Given the description of an element on the screen output the (x, y) to click on. 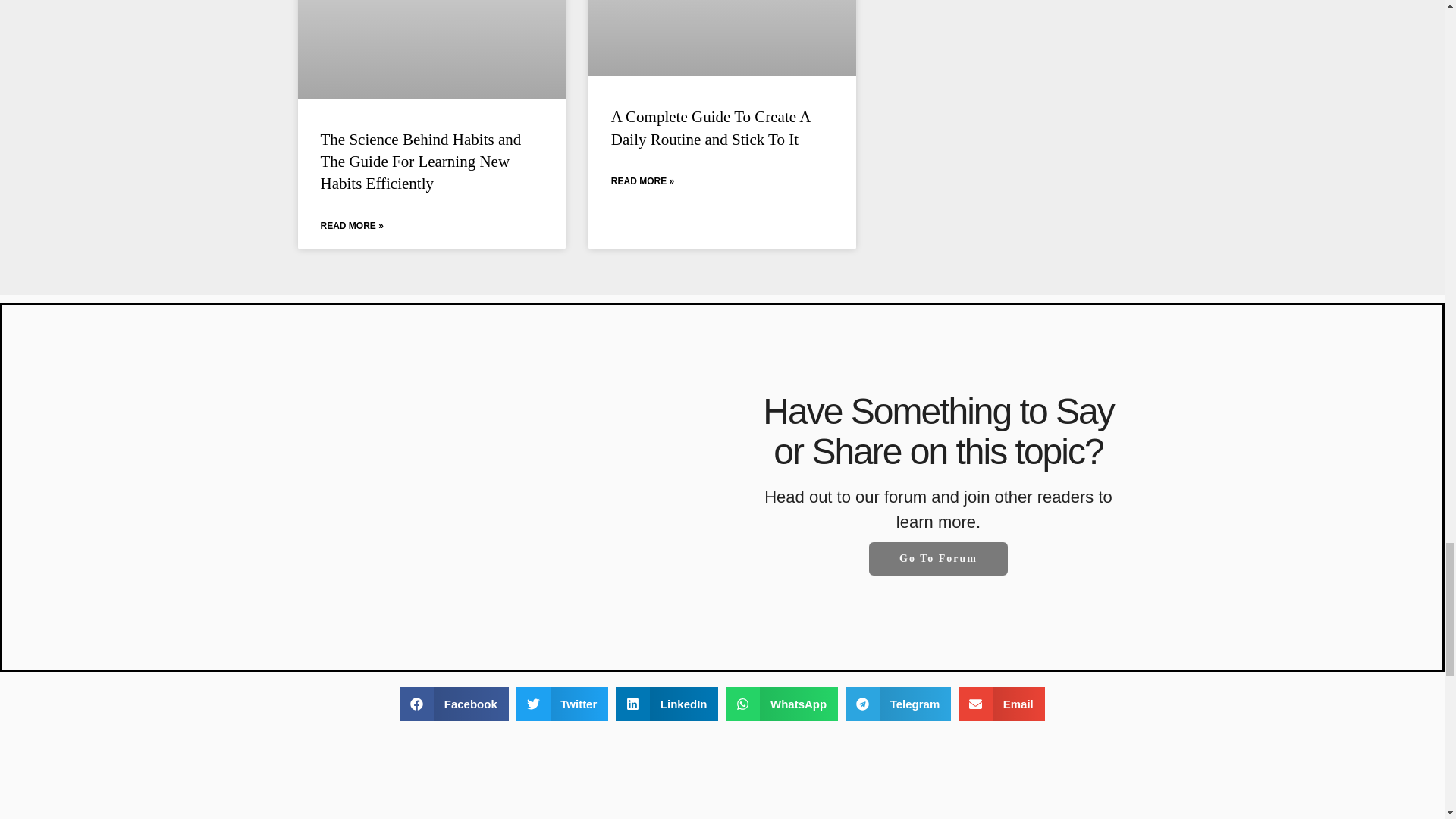
Go To Forum (938, 558)
A Complete Guide To Create A Daily Routine and Stick To It (710, 127)
